Given the description of an element on the screen output the (x, y) to click on. 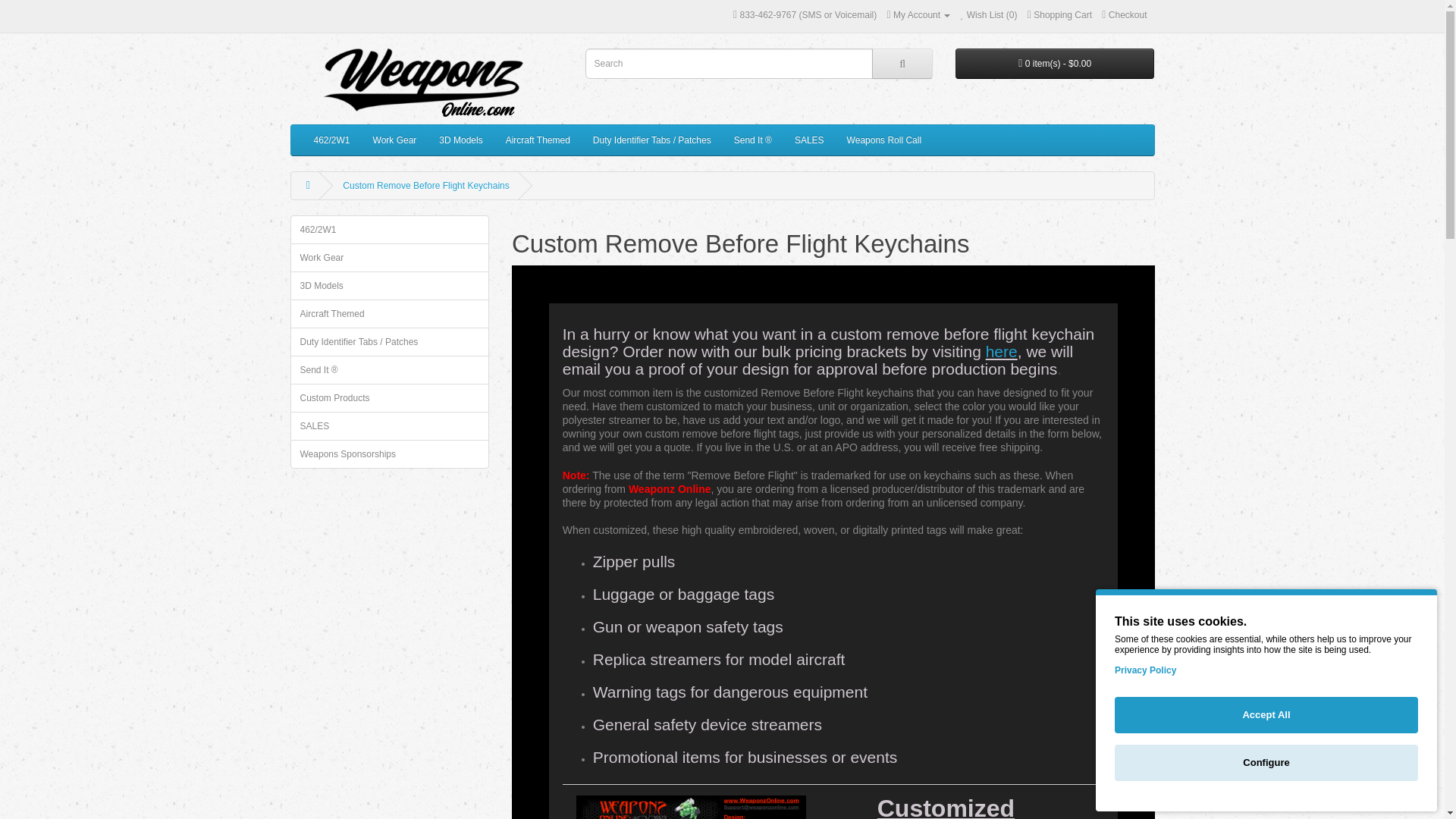
My Account (918, 14)
Checkout (1124, 14)
Checkout (1124, 14)
Shopping Cart (1059, 14)
Shopping Cart (1059, 14)
3D Models (460, 140)
Work Gear (394, 140)
Aircraft Themed (537, 140)
My Account (918, 14)
Weaponz Online (421, 82)
